Given the description of an element on the screen output the (x, y) to click on. 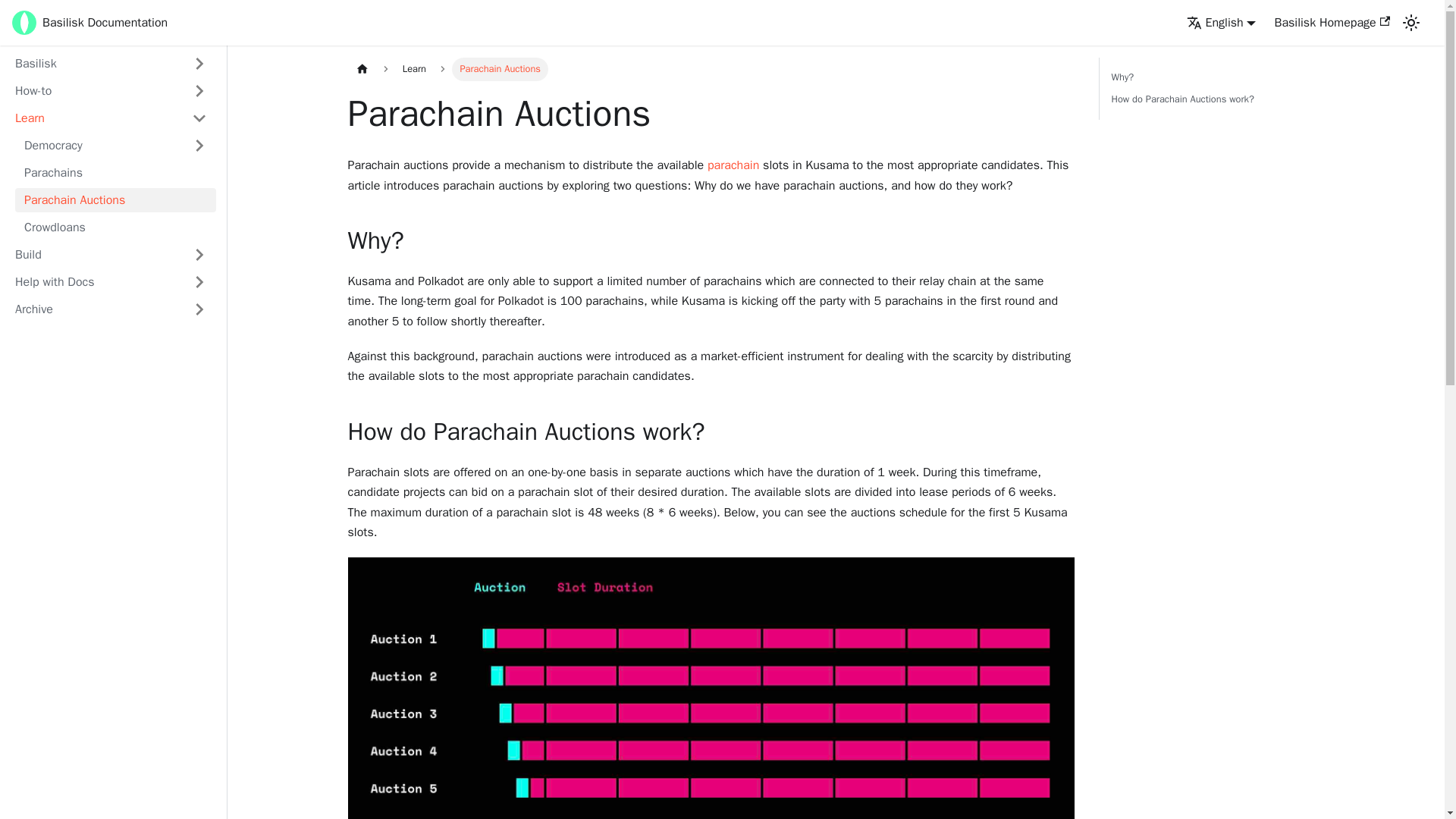
Basilisk Documentation (89, 22)
English (1221, 22)
How do Parachain Auctions work? (1215, 99)
Democracy (114, 145)
Build (110, 254)
Basilisk (110, 63)
Why? (1215, 77)
parachain (732, 165)
Parachain Auctions (114, 200)
